Given the description of an element on the screen output the (x, y) to click on. 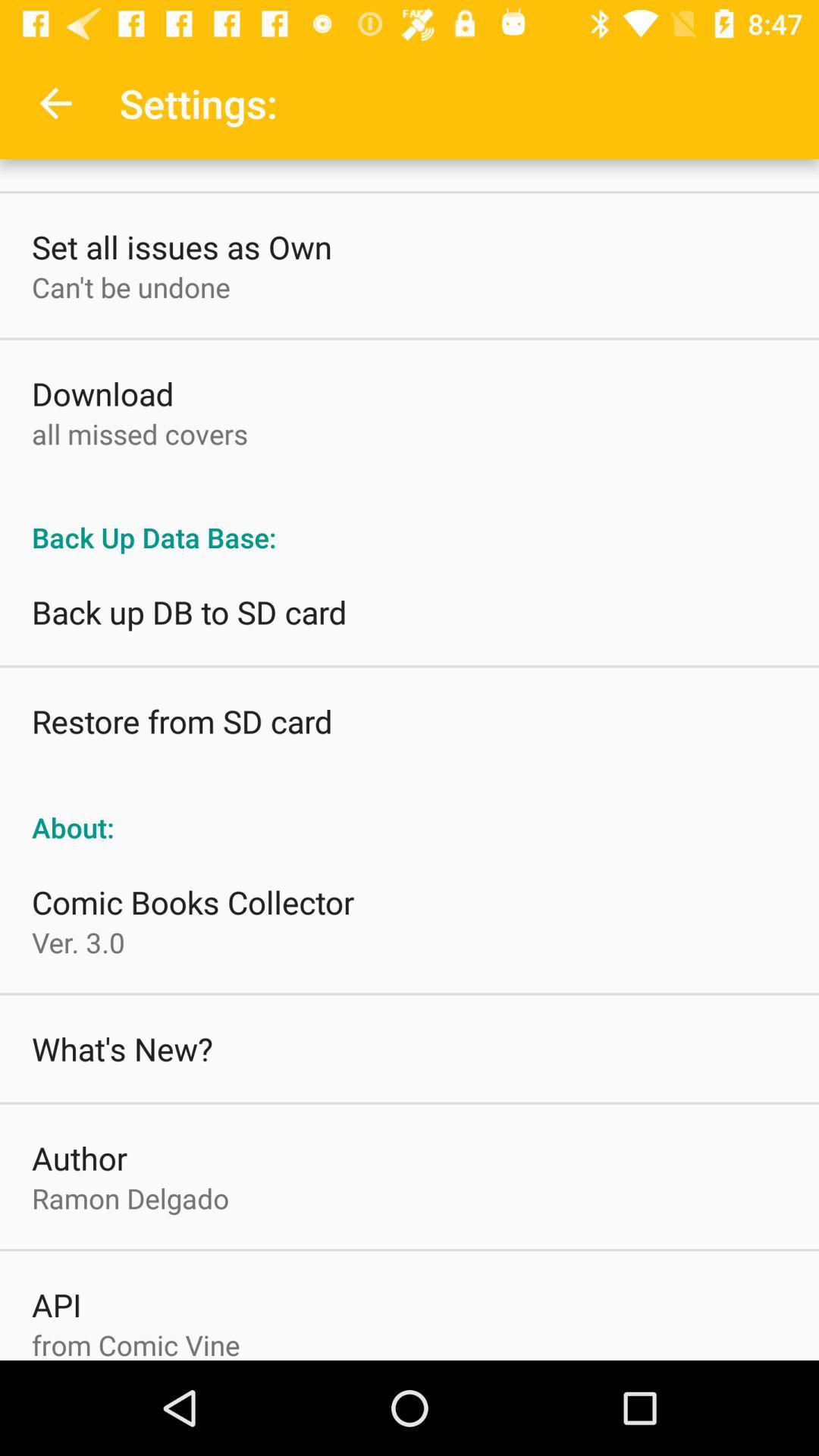
scroll to ver. 3.0 icon (78, 942)
